Given the description of an element on the screen output the (x, y) to click on. 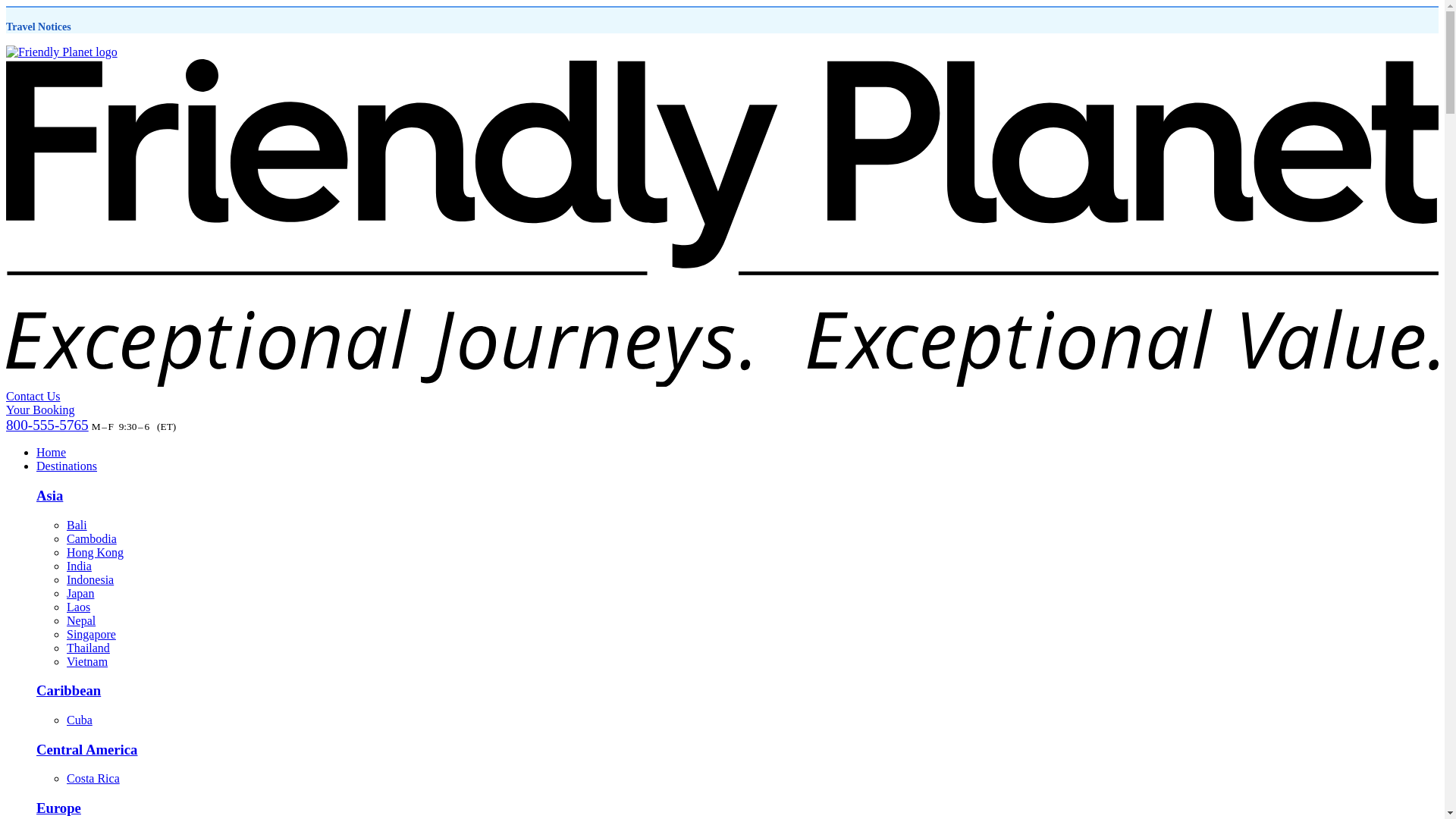
Hong Kong (94, 552)
India (78, 565)
Europe (58, 807)
Thailand (88, 647)
800-555-5765 (46, 425)
Contact Us (33, 395)
Bali (76, 524)
Singapore (91, 634)
Costa Rica (92, 778)
Indonesia (89, 579)
Vietnam (86, 661)
Travel Notices (38, 26)
Your Booking (39, 409)
Nepal (81, 620)
Destinations (66, 465)
